Given the description of an element on the screen output the (x, y) to click on. 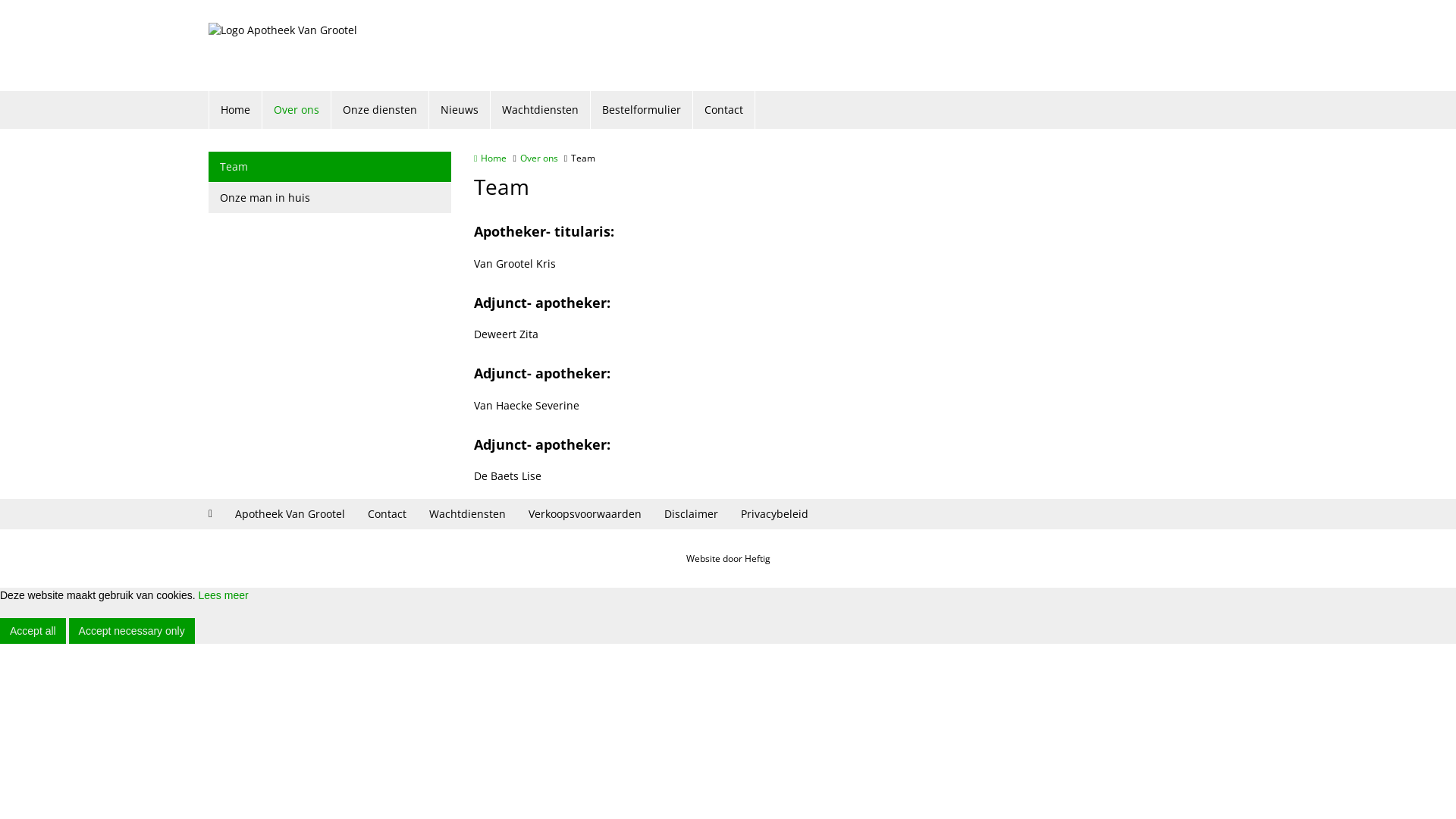
Onze diensten Element type: text (380, 109)
Website door Heftig Element type: text (727, 558)
Disclaimer Element type: text (691, 513)
Overslaan en naar de inhoud gaan Element type: text (81, 0)
Home | Apotheek Van Grootel Element type: hover (282, 45)
Wachtdiensten Element type: text (540, 109)
Accept all Element type: text (32, 630)
Over ons Element type: text (539, 157)
Home Element type: text (489, 157)
Nieuws Element type: text (459, 109)
Team Element type: text (329, 166)
Contact Element type: text (724, 109)
Apotheek Van Grootel Element type: text (290, 513)
Over ons Element type: text (296, 109)
Bestelformulier Element type: text (641, 109)
Privacybeleid Element type: text (774, 513)
Home | Apotheek Van Grootel Element type: hover (305, 45)
Onze man in huis Element type: text (329, 197)
Home Element type: text (235, 109)
Contact Element type: text (386, 513)
Verkoopsvoorwaarden Element type: text (584, 513)
Accept necessary only Element type: text (131, 630)
Wachtdiensten Element type: text (467, 513)
Lees meer Element type: text (222, 595)
